Given the description of an element on the screen output the (x, y) to click on. 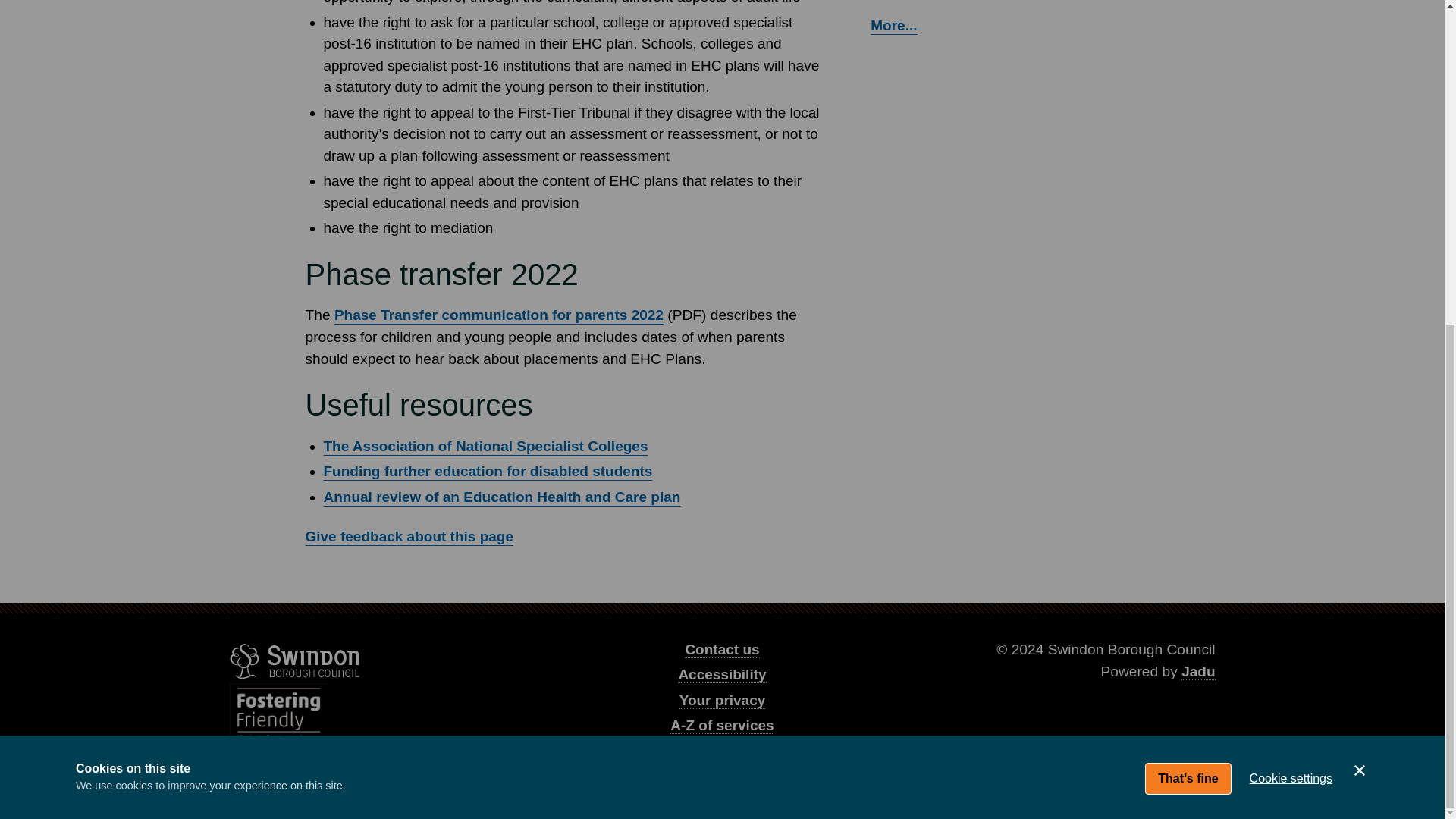
Cookie settings (1290, 248)
Swindon Borough Council (293, 661)
The Association of National Specialist Colleges (485, 446)
Give feedback about this page (408, 536)
Phase Transfer communication for parents 2022 (498, 314)
Annual review of an Education Health and Care plan (501, 496)
More... (893, 25)
Funding further education for disabled students (487, 471)
Contact us (721, 649)
